Given the description of an element on the screen output the (x, y) to click on. 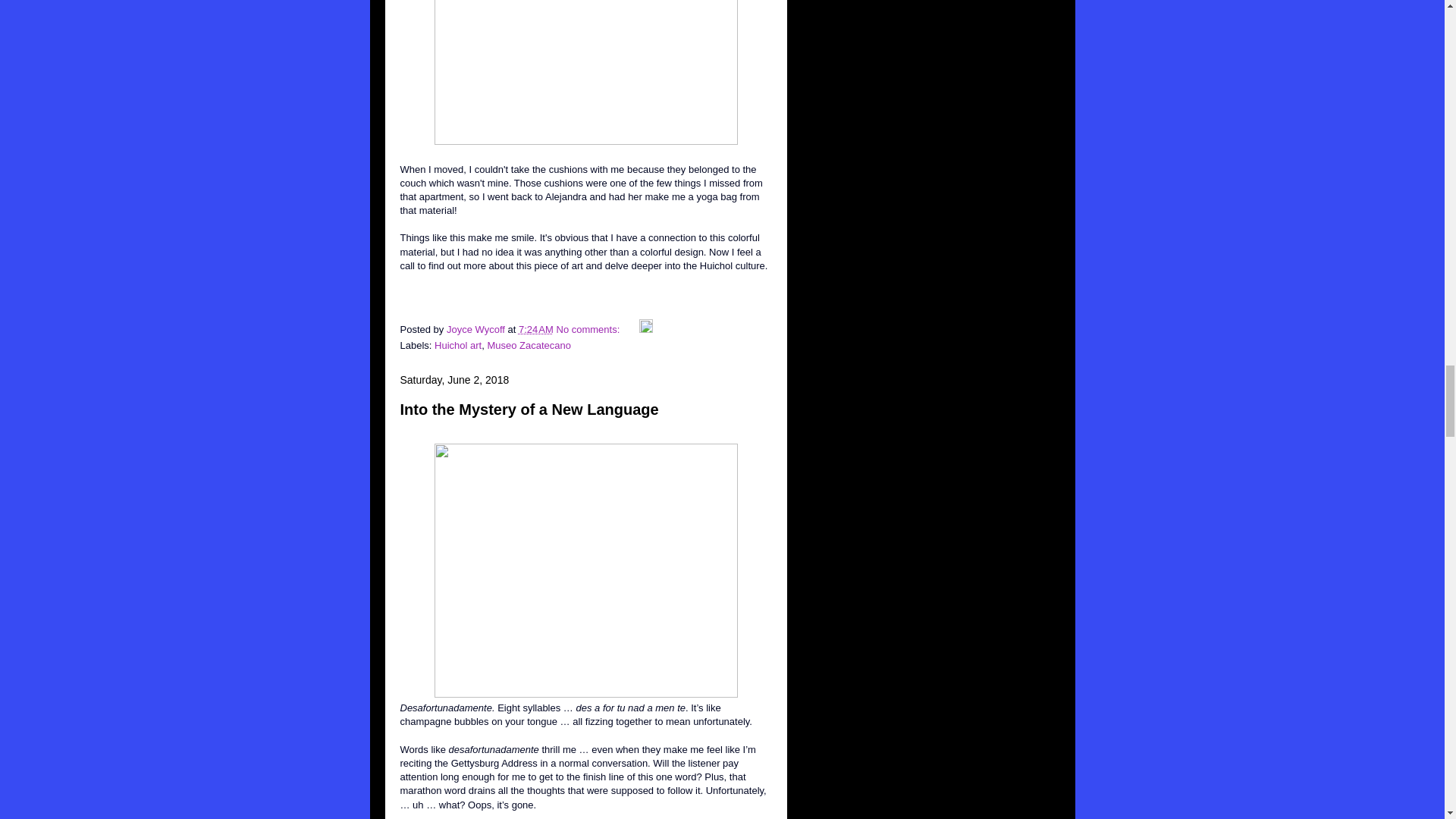
Edit Post (645, 328)
Email Post (631, 328)
author profile (477, 328)
permanent link (535, 328)
